Given the description of an element on the screen output the (x, y) to click on. 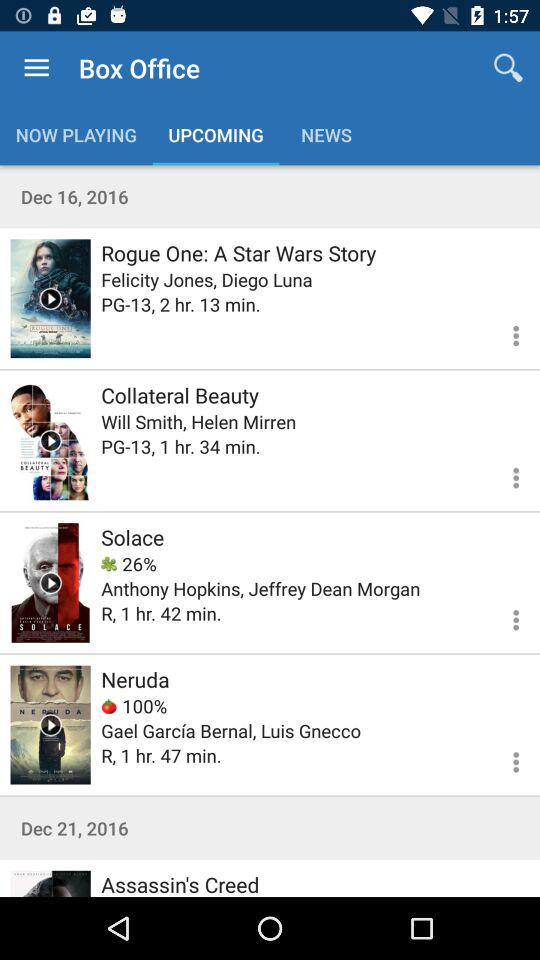
more information (503, 617)
